Given the description of an element on the screen output the (x, y) to click on. 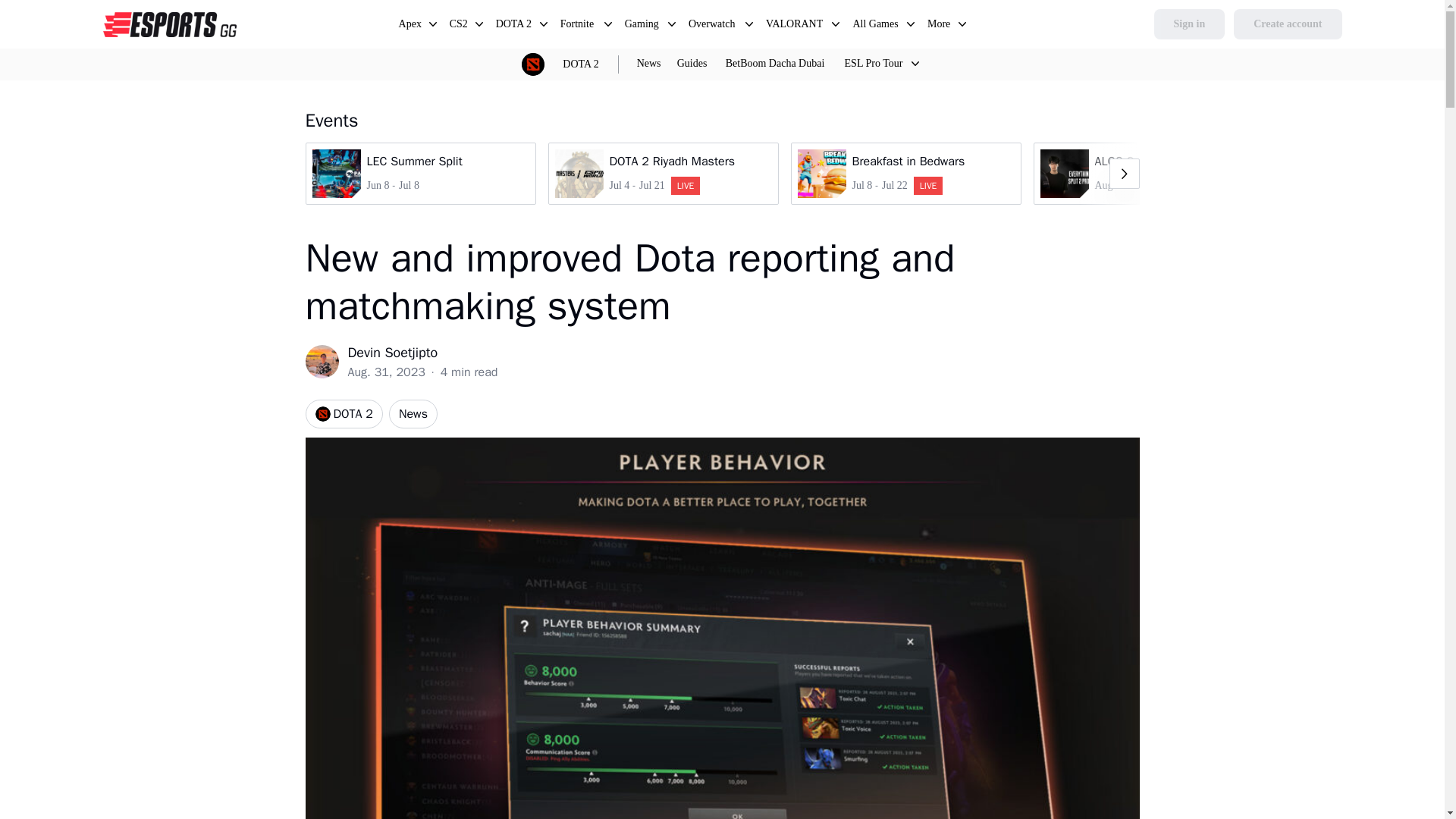
Guides (692, 64)
CS2 (419, 173)
DOTA 2 (458, 25)
Apex (580, 64)
News (410, 25)
More (649, 64)
Fortnite (939, 25)
Create account (578, 25)
BetBoom Dacha Dubai (1286, 24)
DOTA 2 (775, 64)
Gaming (342, 413)
Fortnite (642, 25)
VALORANT (578, 25)
